Given the description of an element on the screen output the (x, y) to click on. 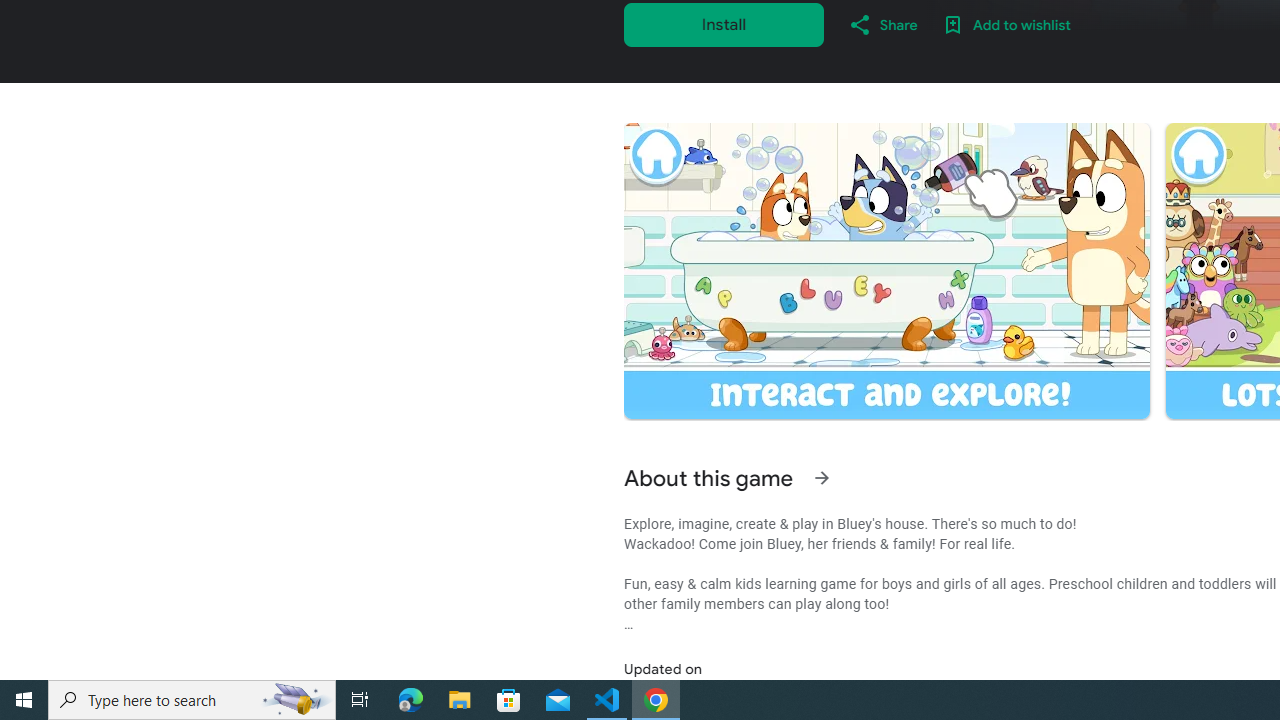
Install (723, 24)
Share (881, 24)
Add to wishlist (1006, 24)
Screenshot image (886, 271)
See more information on About this game (821, 477)
